Given the description of an element on the screen output the (x, y) to click on. 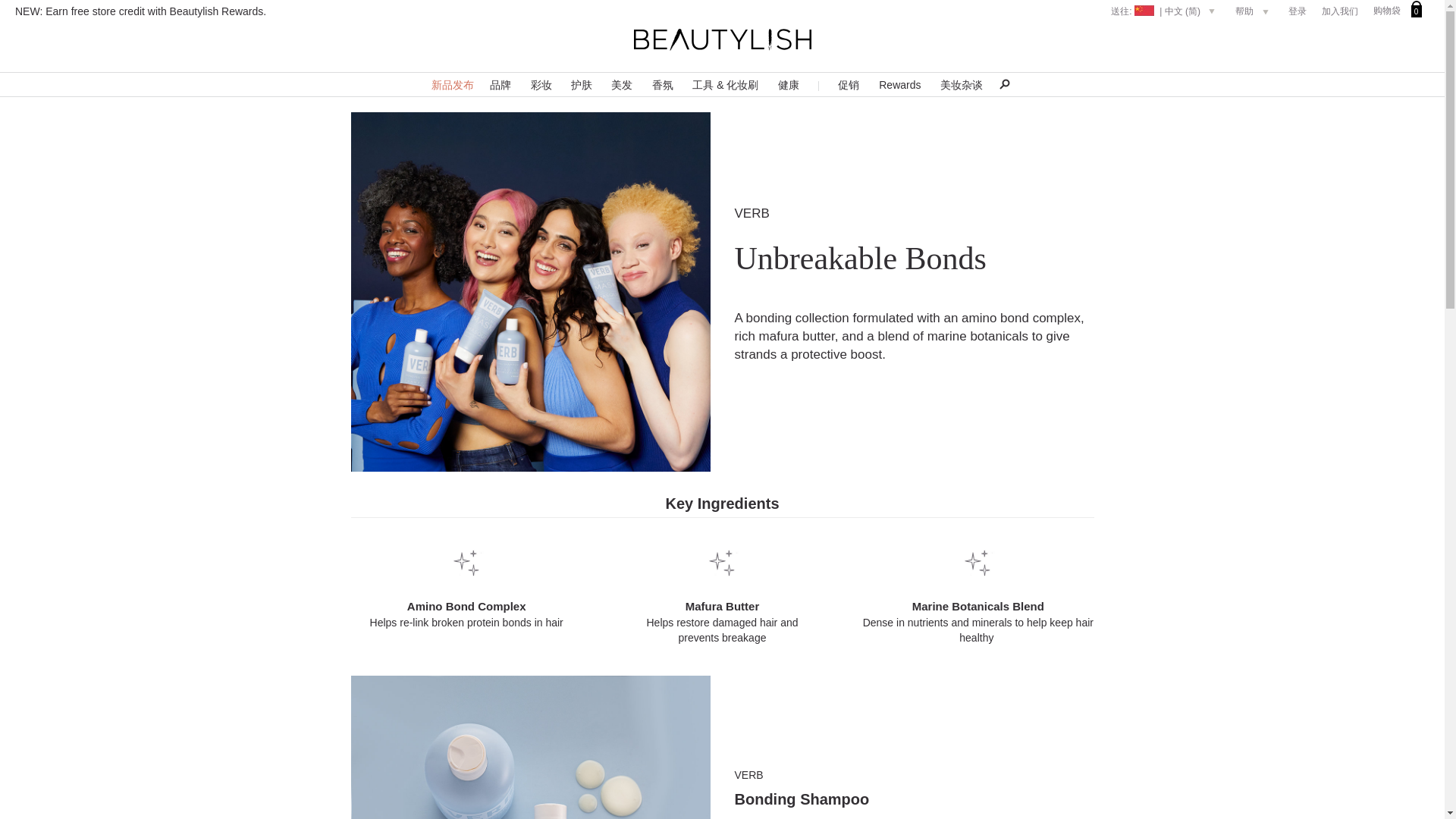
Verb Bonding Shampoo  (530, 747)
12 fl oz (801, 799)
